Given the description of an element on the screen output the (x, y) to click on. 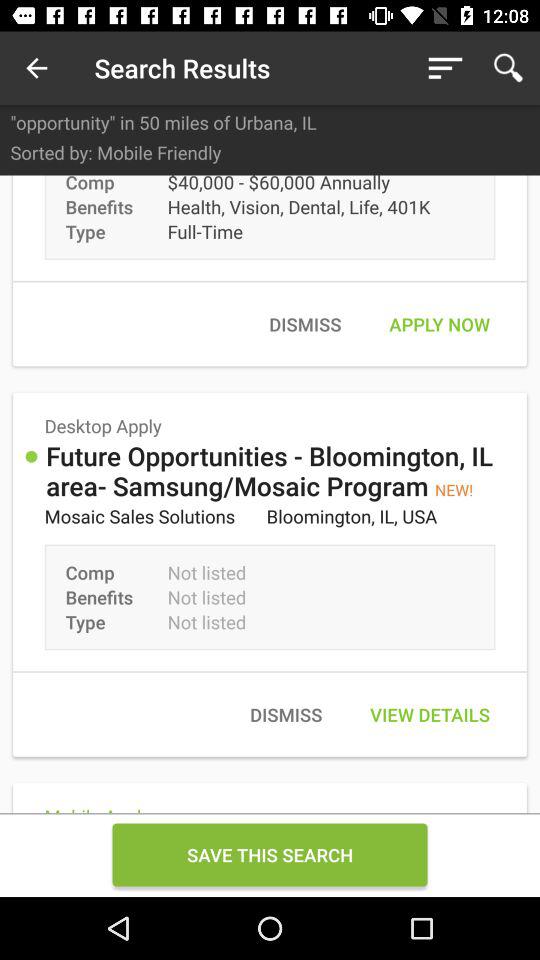
click item on the right (439, 323)
